Given the description of an element on the screen output the (x, y) to click on. 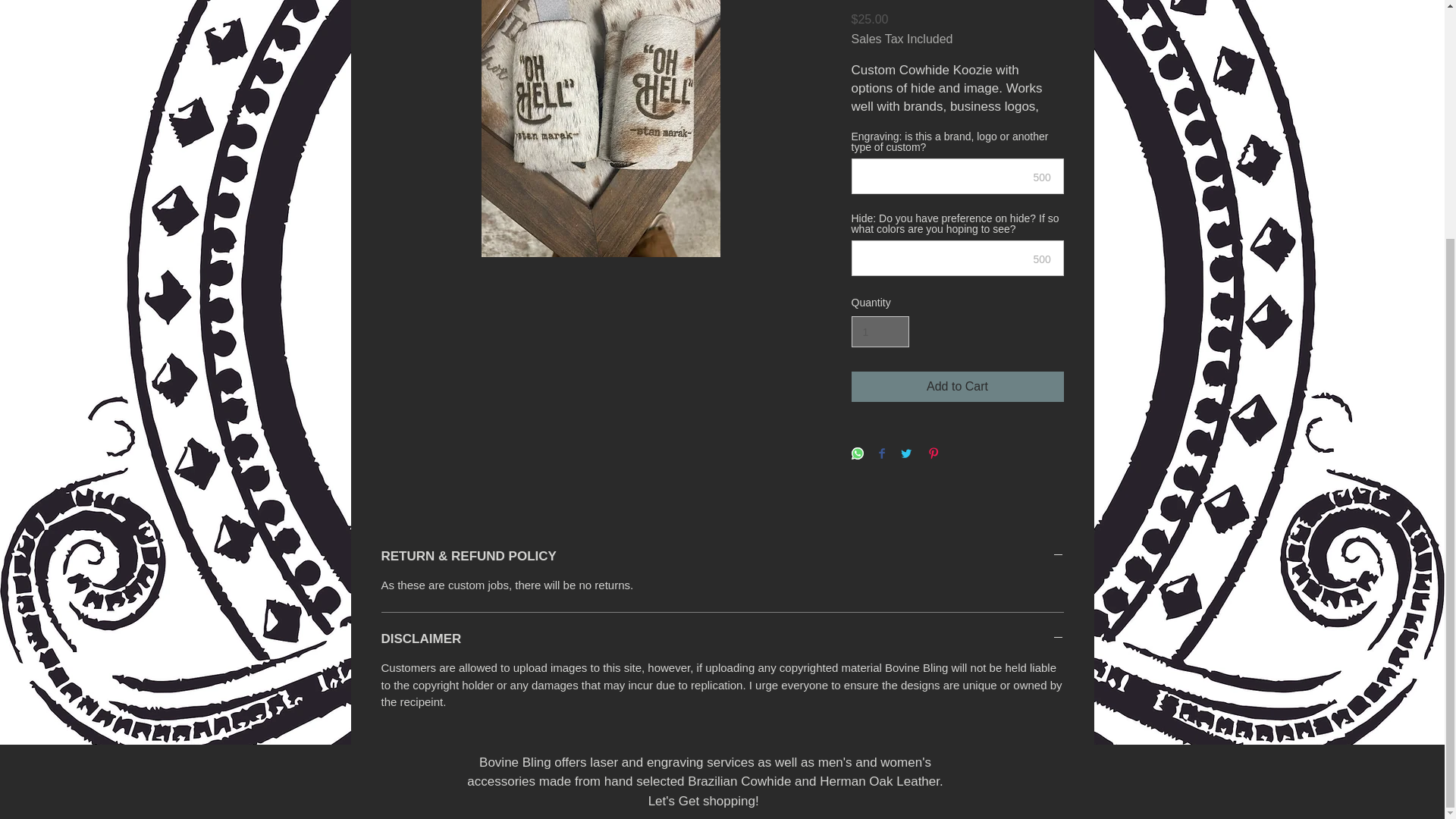
1 (879, 331)
DISCLAIMER (721, 638)
Add to Cart (956, 386)
